Given the description of an element on the screen output the (x, y) to click on. 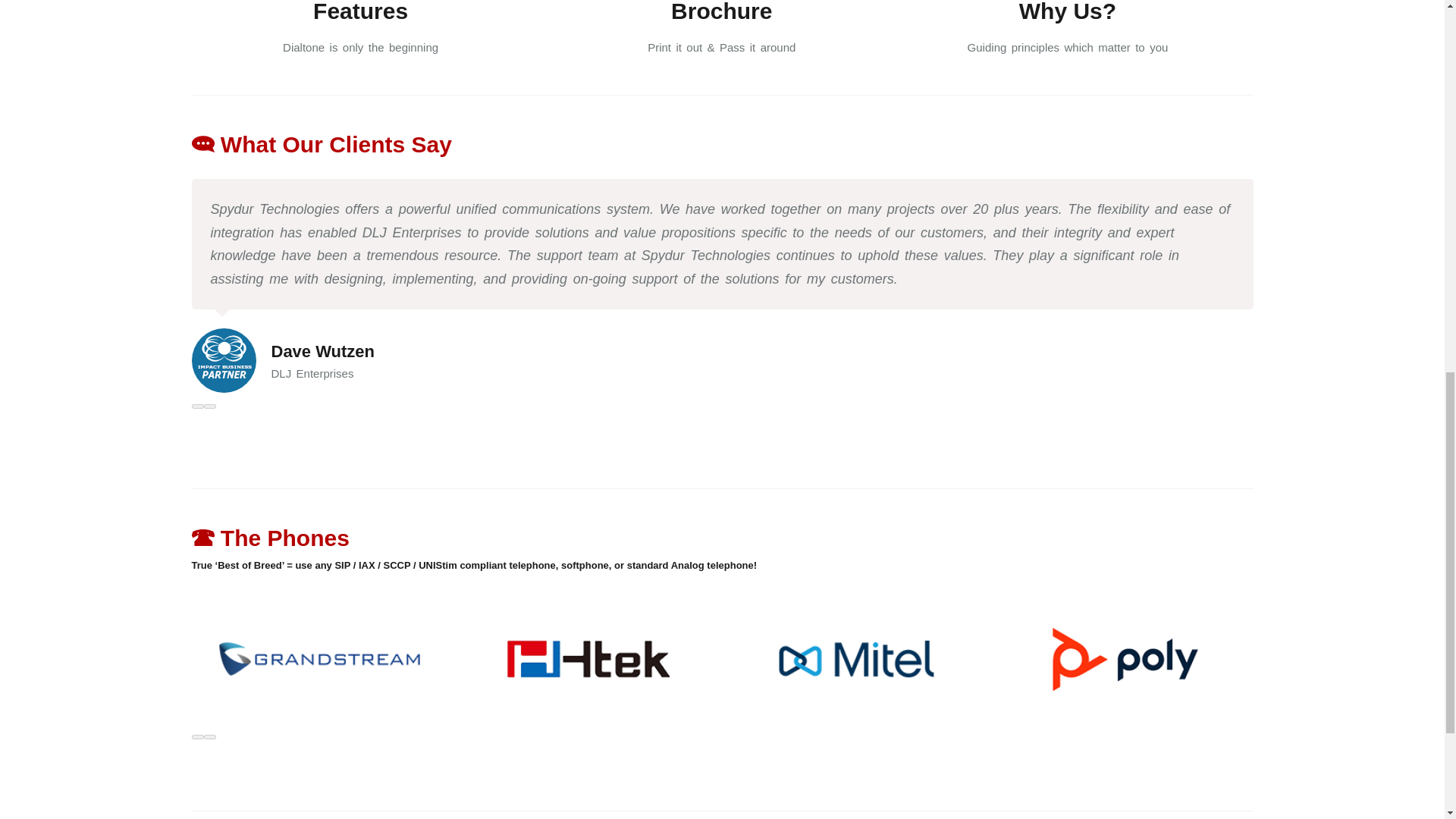
The Phones (269, 537)
